Given the description of an element on the screen output the (x, y) to click on. 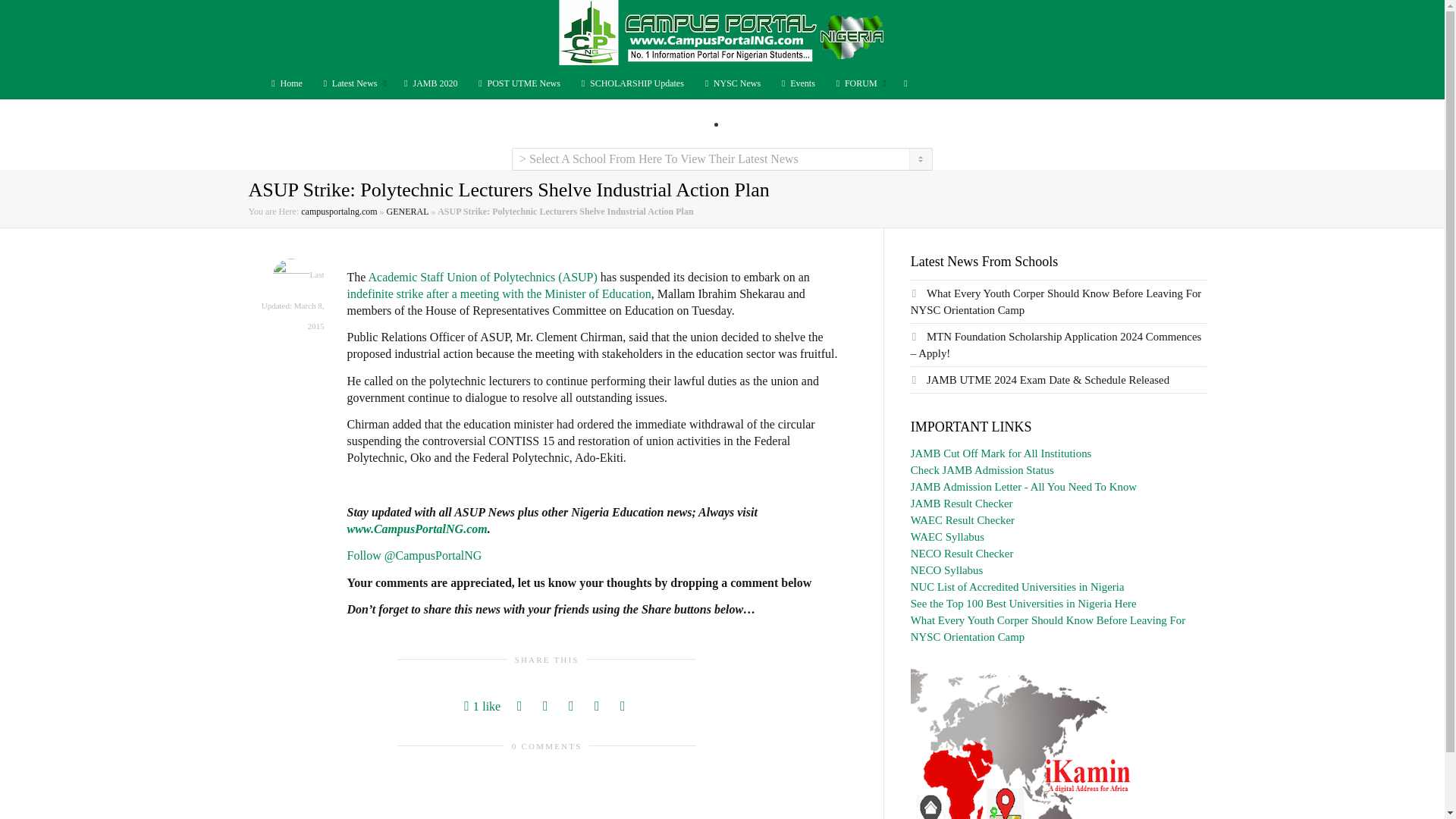
WAEC Result Checker (962, 520)
www.CampusPortalNG.com (417, 528)
Nigeria Students forum (857, 82)
WAEC Syllabus (947, 536)
campusportalng.com (339, 211)
CampusPortalNg.com Homepage (284, 82)
Latest NYSC Updates (730, 82)
Latest JAMB News (429, 82)
Like this (482, 705)
Check JAMB Admission Status (982, 469)
Campus Portal Nigeria (721, 32)
Events (796, 82)
JAMB Result Checker (962, 503)
NECO Result Checker (962, 553)
JAMB 2020 (429, 82)
